Given the description of an element on the screen output the (x, y) to click on. 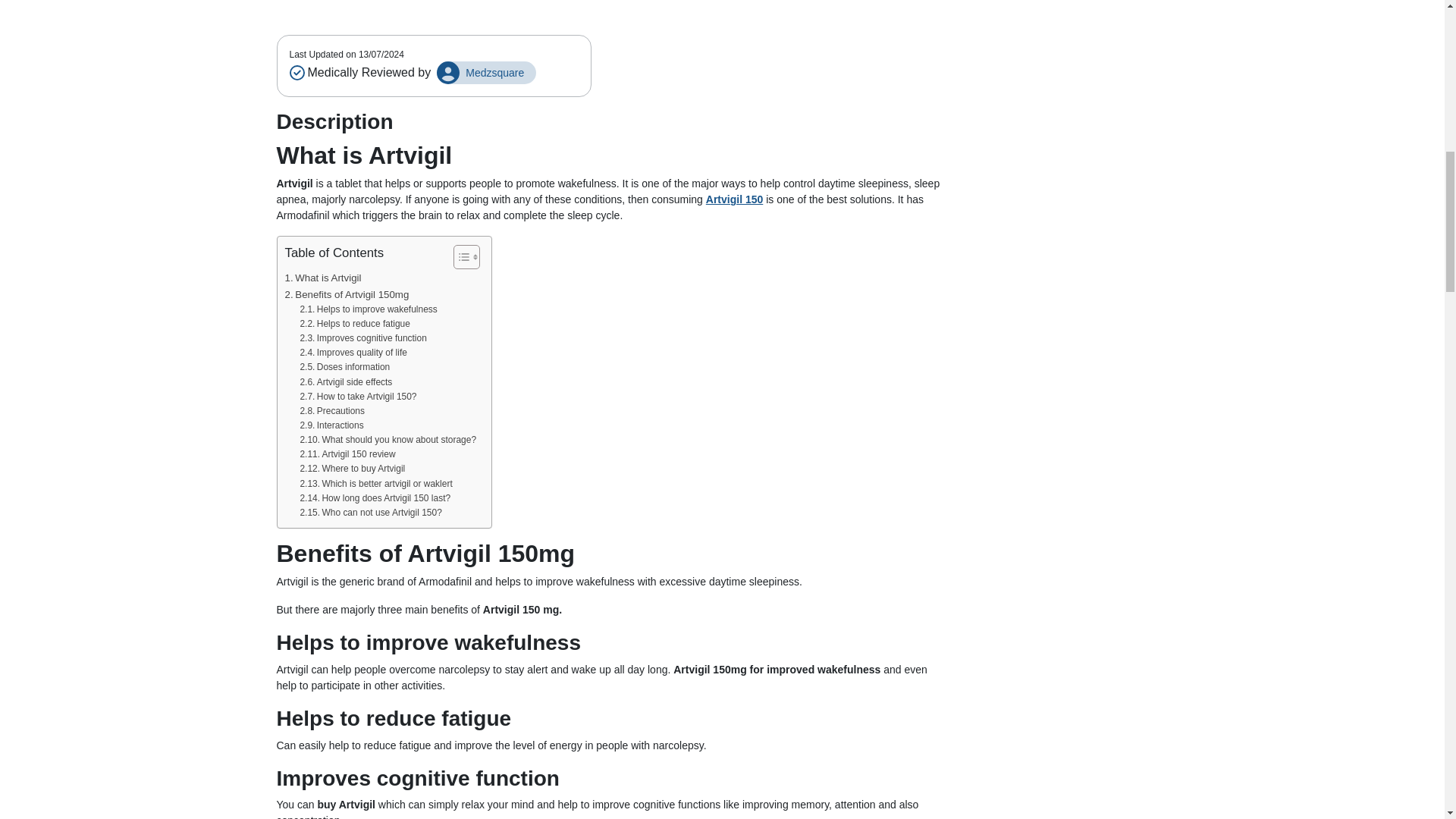
Benefits of Artvigil 150mg (347, 289)
Improves cognitive function (362, 333)
Helps to reduce fatigue (354, 319)
What is Artvigil (323, 273)
Doses information (344, 362)
How to take Artvigil 150? (357, 391)
What should you know about storage? (387, 435)
Improves quality of life (352, 348)
Interactions (330, 421)
Precautions (332, 406)
